Given the description of an element on the screen output the (x, y) to click on. 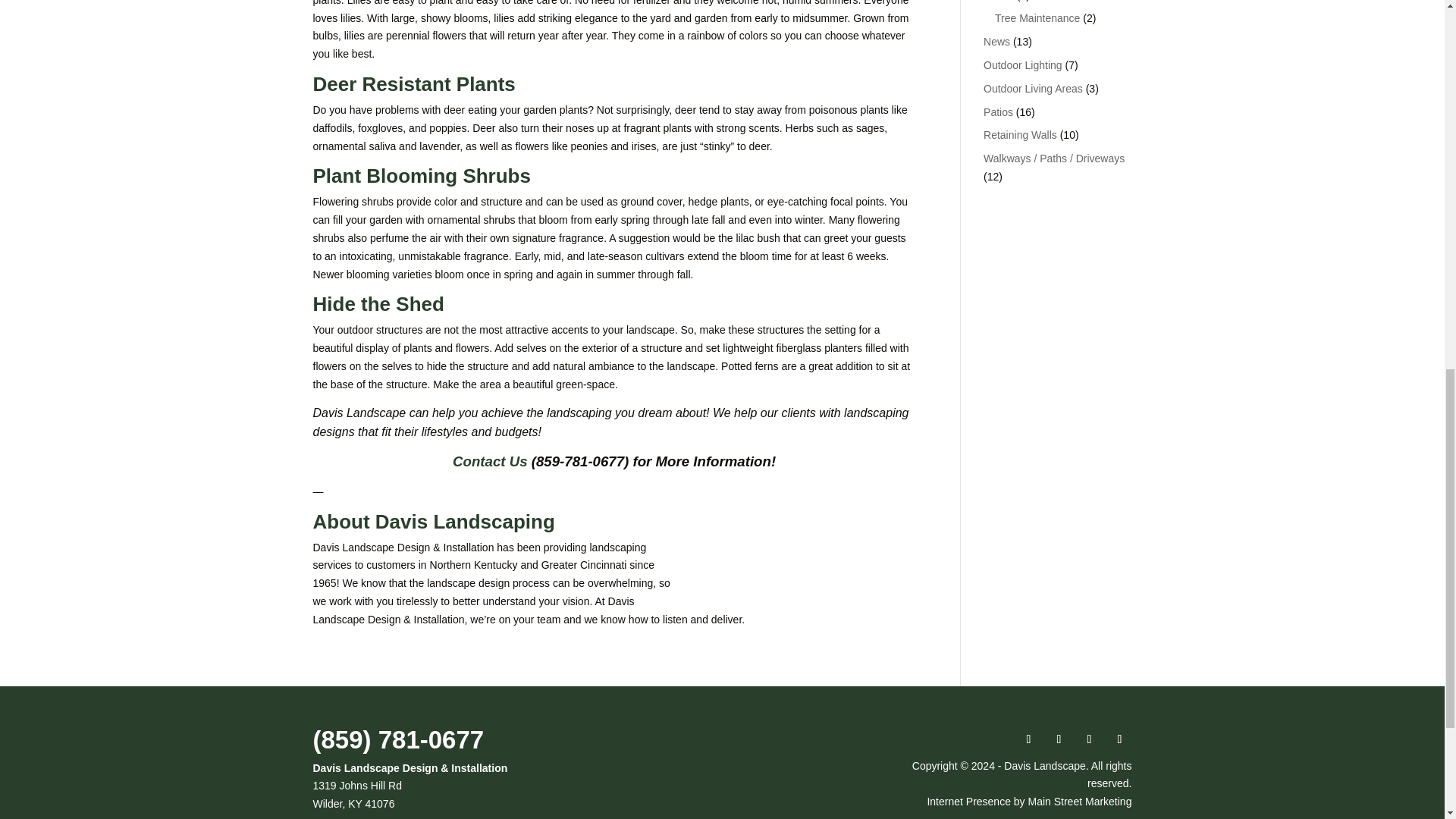
Contact Us (489, 461)
Patios (998, 111)
Follow on Facebook (1028, 739)
News (997, 41)
Follow on LinkedIn (1088, 739)
Tree Maintenance (1037, 18)
Outdoor Living Areas (1033, 88)
Follow on Instagram (1058, 739)
Outdoor Lighting (1023, 64)
